Given the description of an element on the screen output the (x, y) to click on. 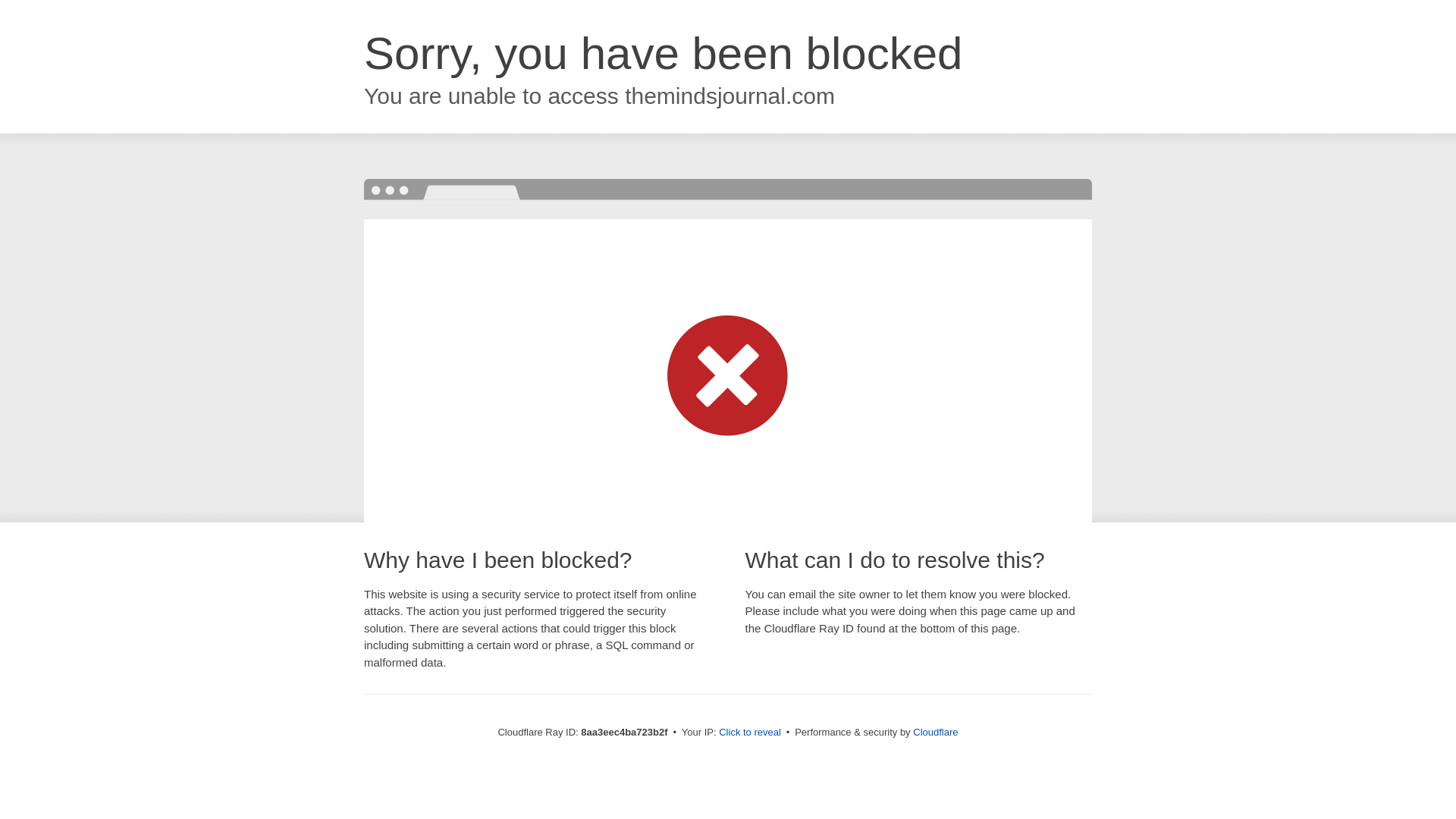
Click to reveal (749, 732)
Cloudflare (935, 731)
